Given the description of an element on the screen output the (x, y) to click on. 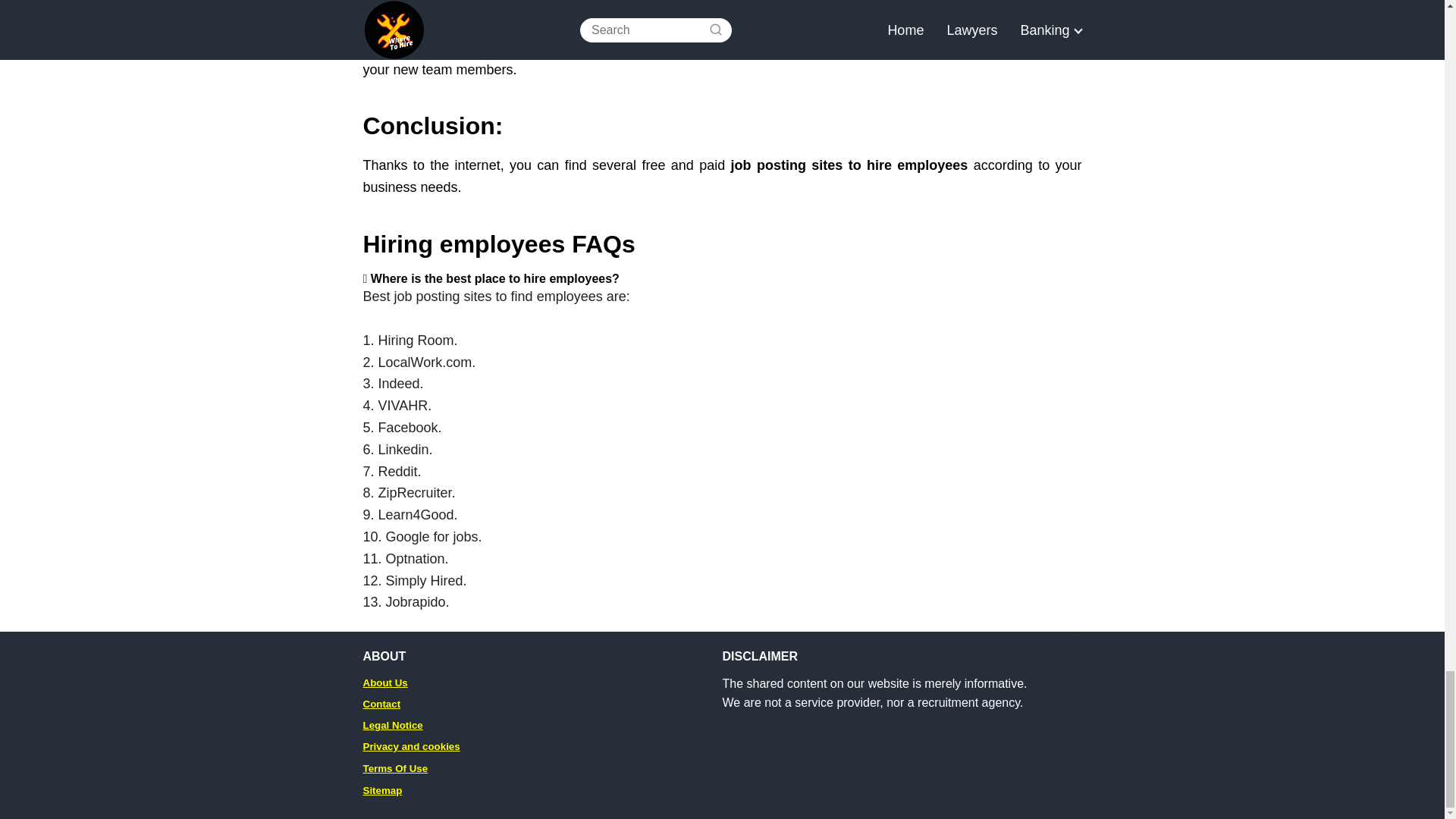
Legal Notice (392, 725)
About Us (384, 681)
Terms Of Use (395, 767)
Sitemap (381, 789)
Privacy and cookies (411, 746)
Contact (381, 704)
